Given the description of an element on the screen output the (x, y) to click on. 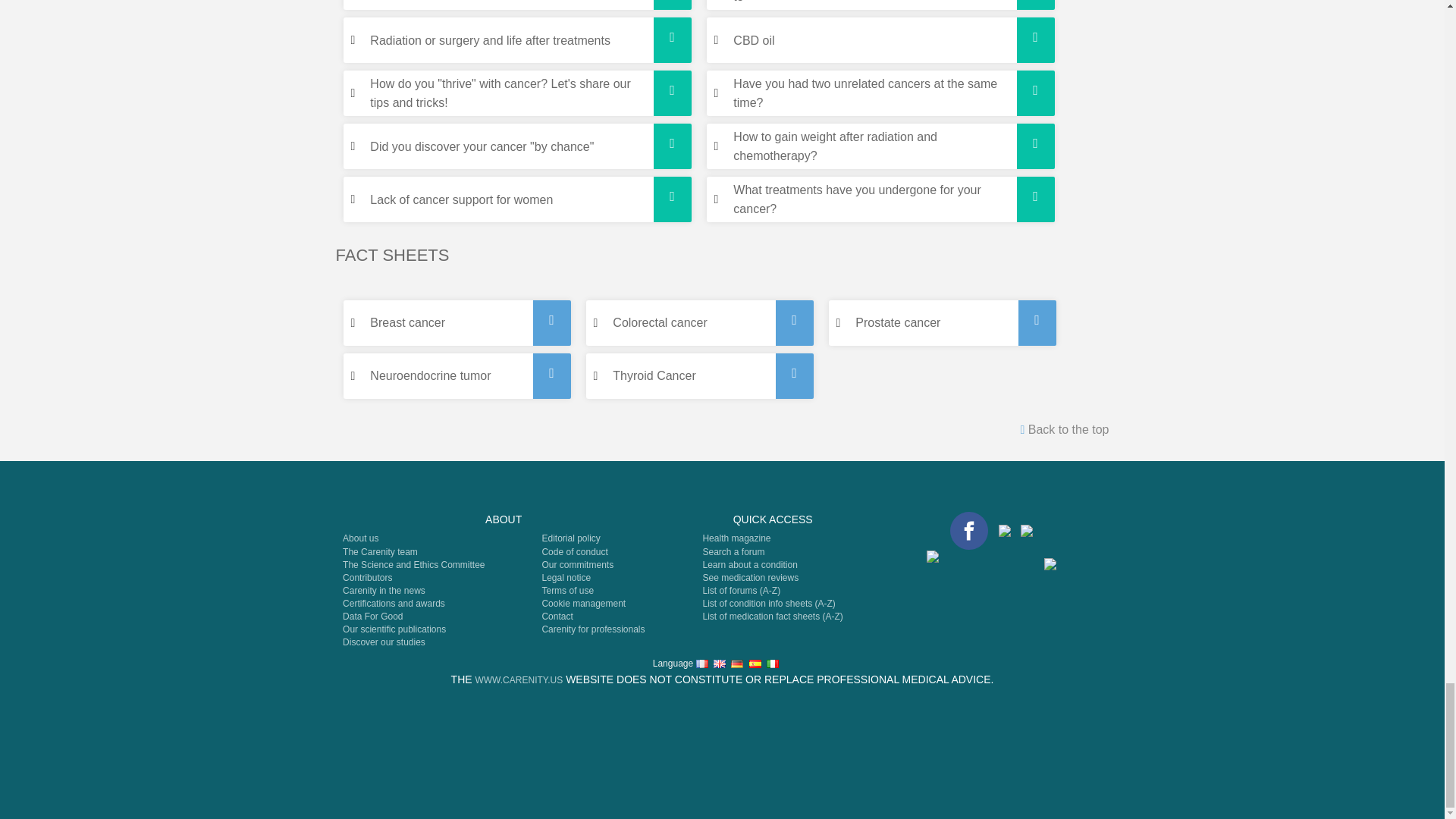
German (736, 664)
Spanish (755, 664)
English (719, 664)
French (701, 664)
Italian (772, 664)
